Given the description of an element on the screen output the (x, y) to click on. 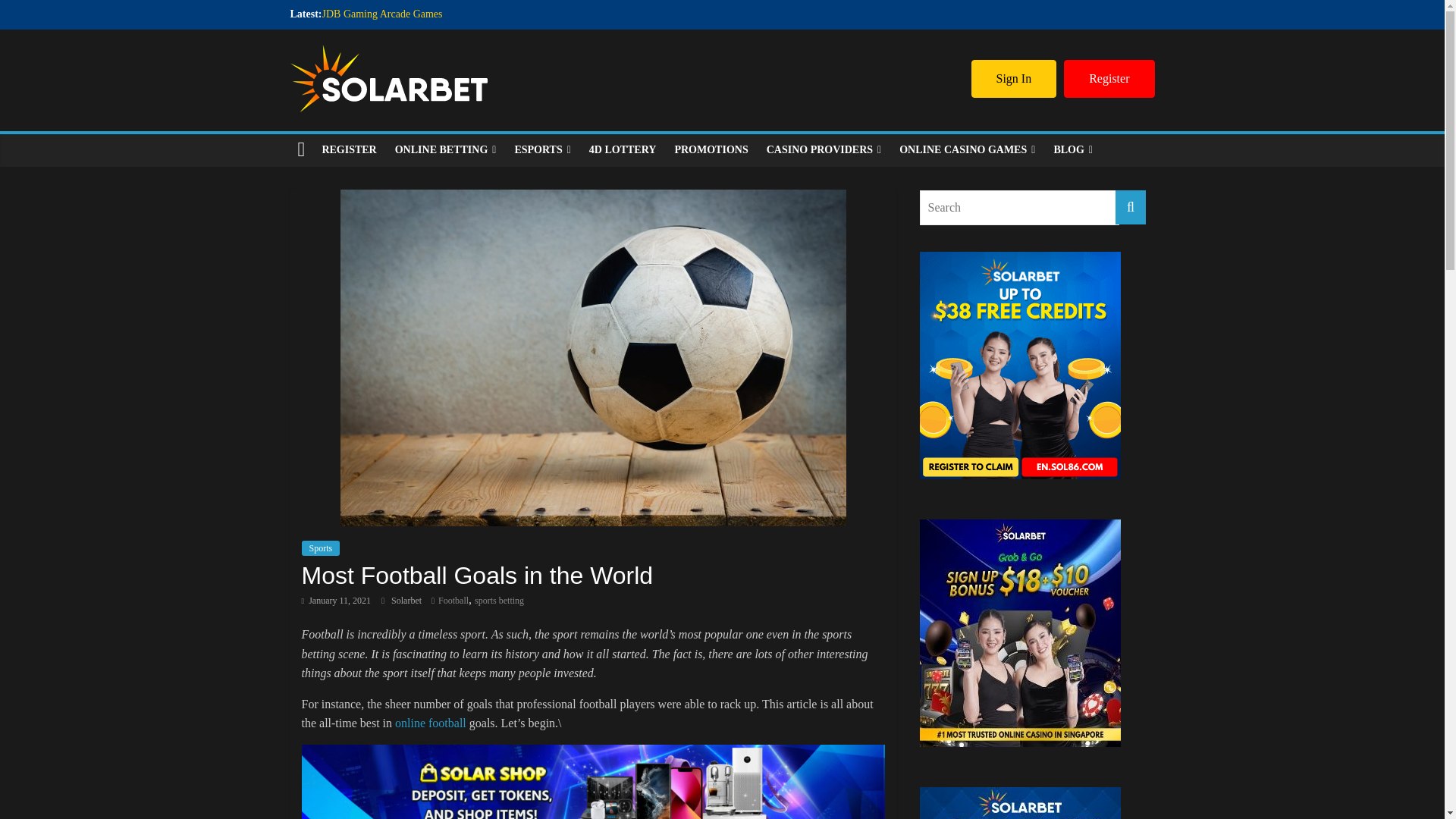
JDB Gaming Bingo and Lottery Games (405, 64)
CASINO PROVIDERS (824, 150)
JDB Fish Shooting Games (377, 48)
JDB Gaming Slots Games (376, 30)
ONLINE BETTING (445, 150)
4D LOTTERY (622, 150)
JDB Gaming Bingo and Lottery Games (405, 64)
JDB Gaming Slots Games (376, 30)
Register (1109, 78)
Solarbet (407, 600)
